Given the description of an element on the screen output the (x, y) to click on. 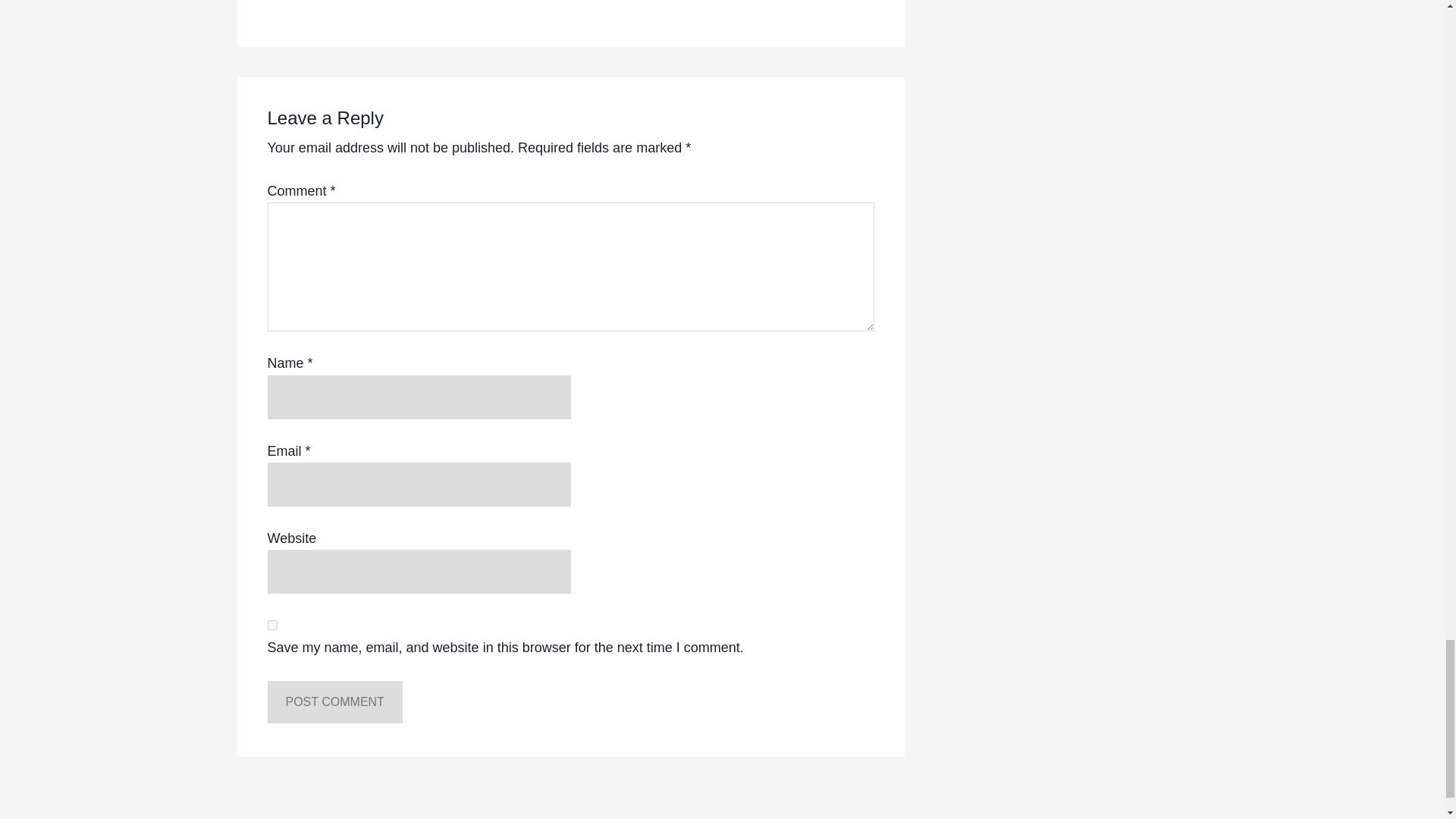
yes (271, 624)
Post Comment (333, 701)
Post Comment (333, 701)
